Given the description of an element on the screen output the (x, y) to click on. 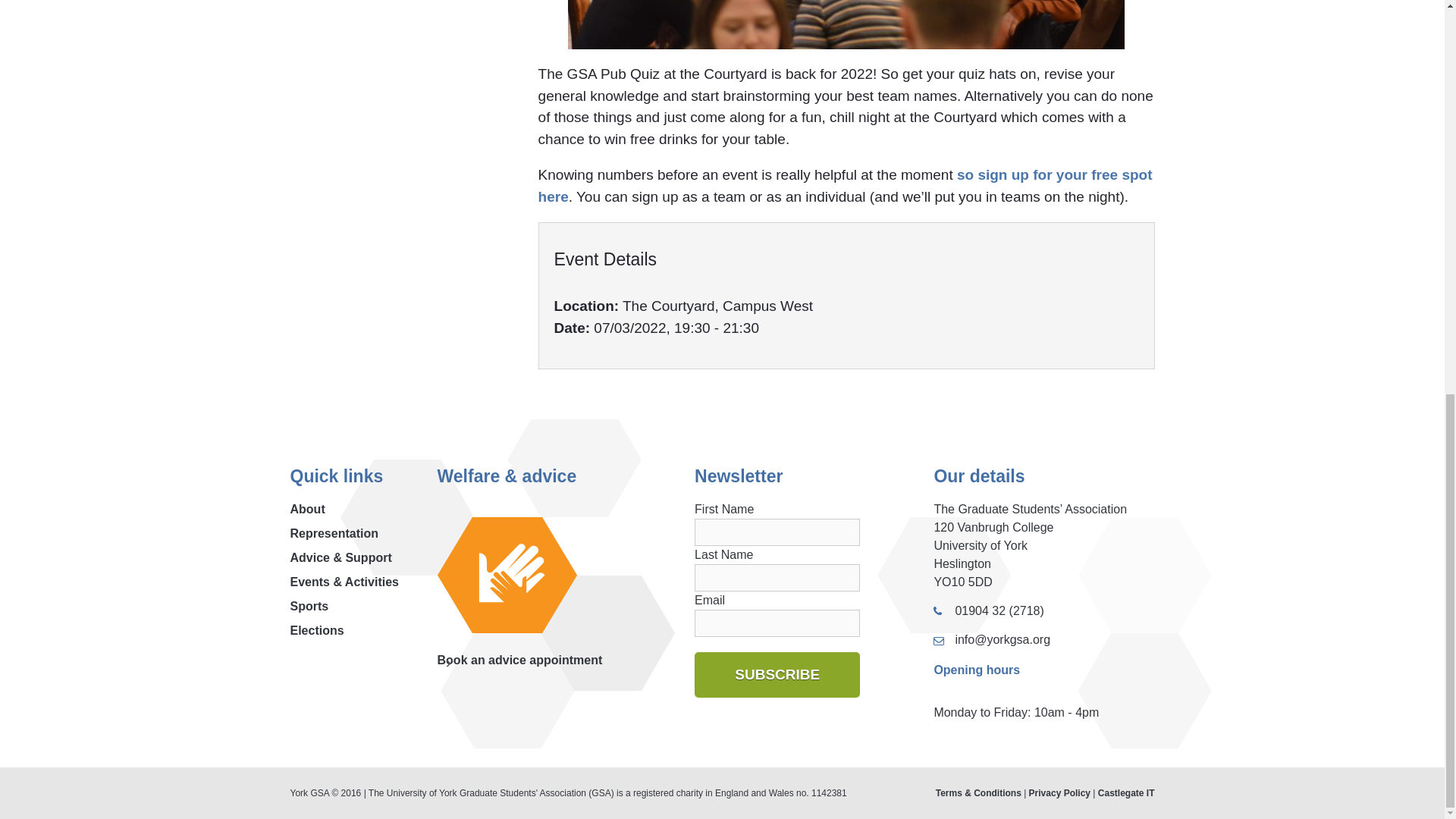
Subscribe (777, 674)
